Given the description of an element on the screen output the (x, y) to click on. 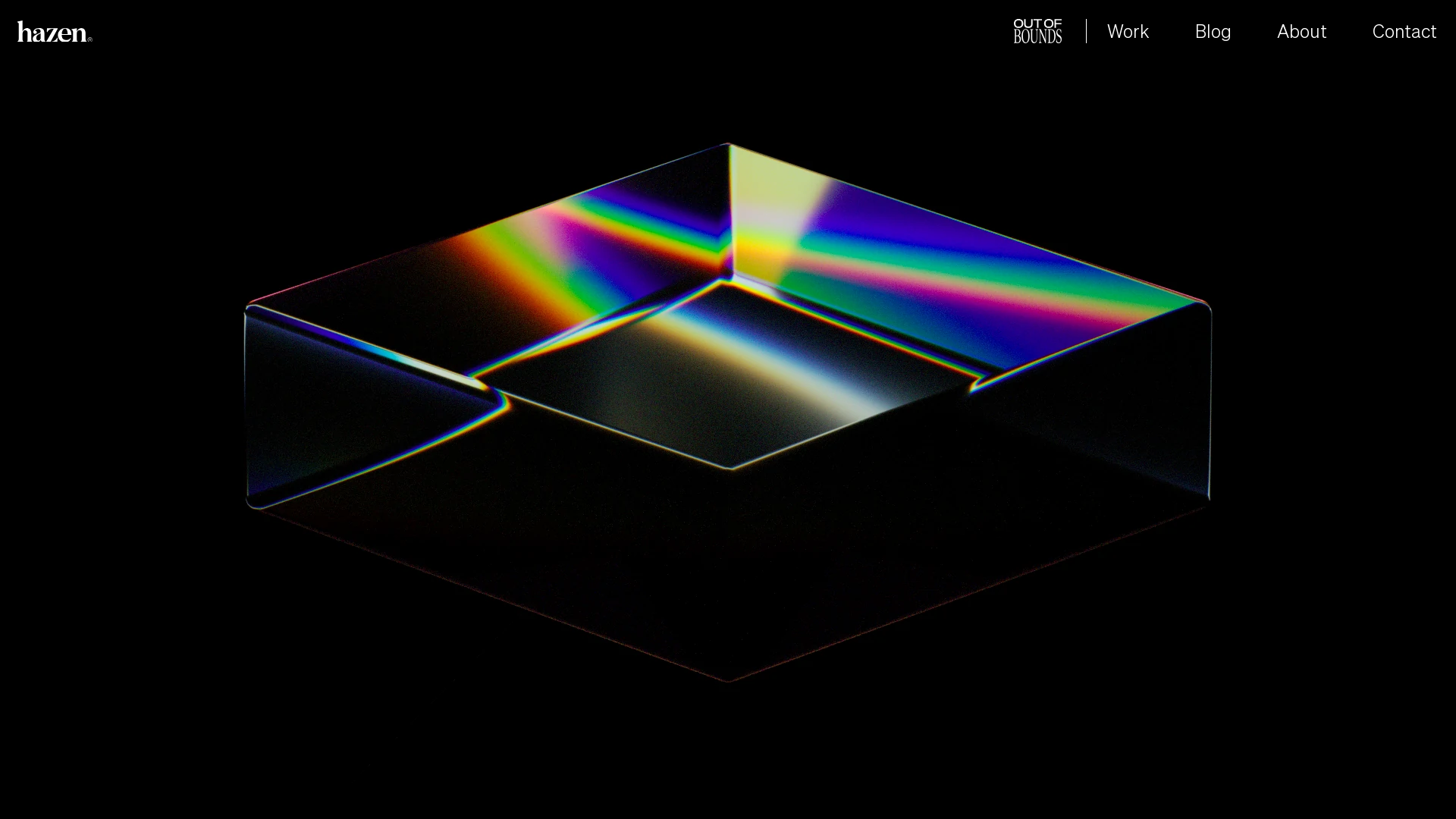
Blog Element type: text (1213, 30)
About Element type: text (1301, 30)
Contact Element type: text (1404, 30)
Work Element type: text (1128, 30)
